Given the description of an element on the screen output the (x, y) to click on. 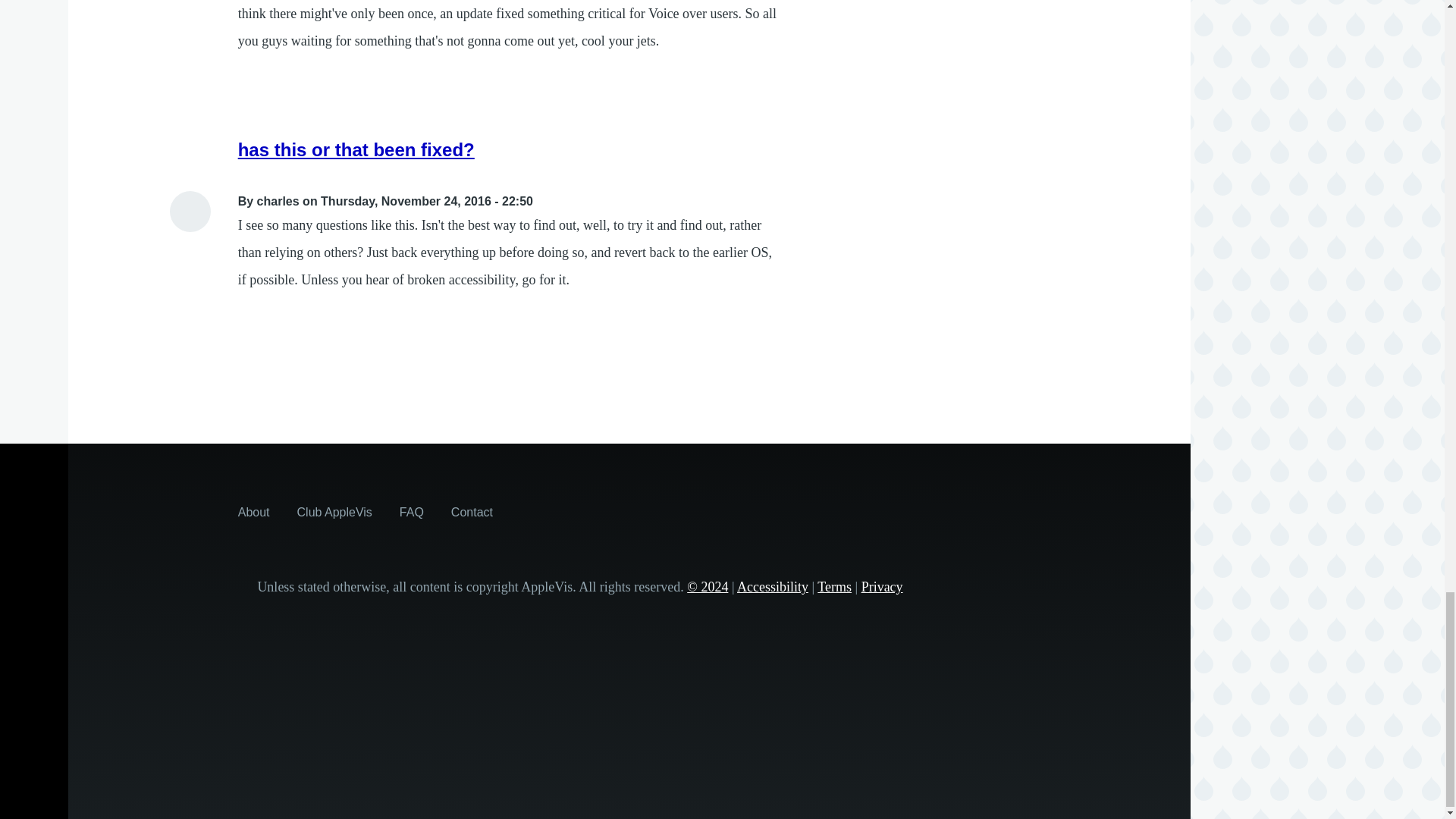
About (253, 511)
Answers to some frequently asked questions about AppleVis (410, 511)
has this or that been fixed? (356, 149)
